Given the description of an element on the screen output the (x, y) to click on. 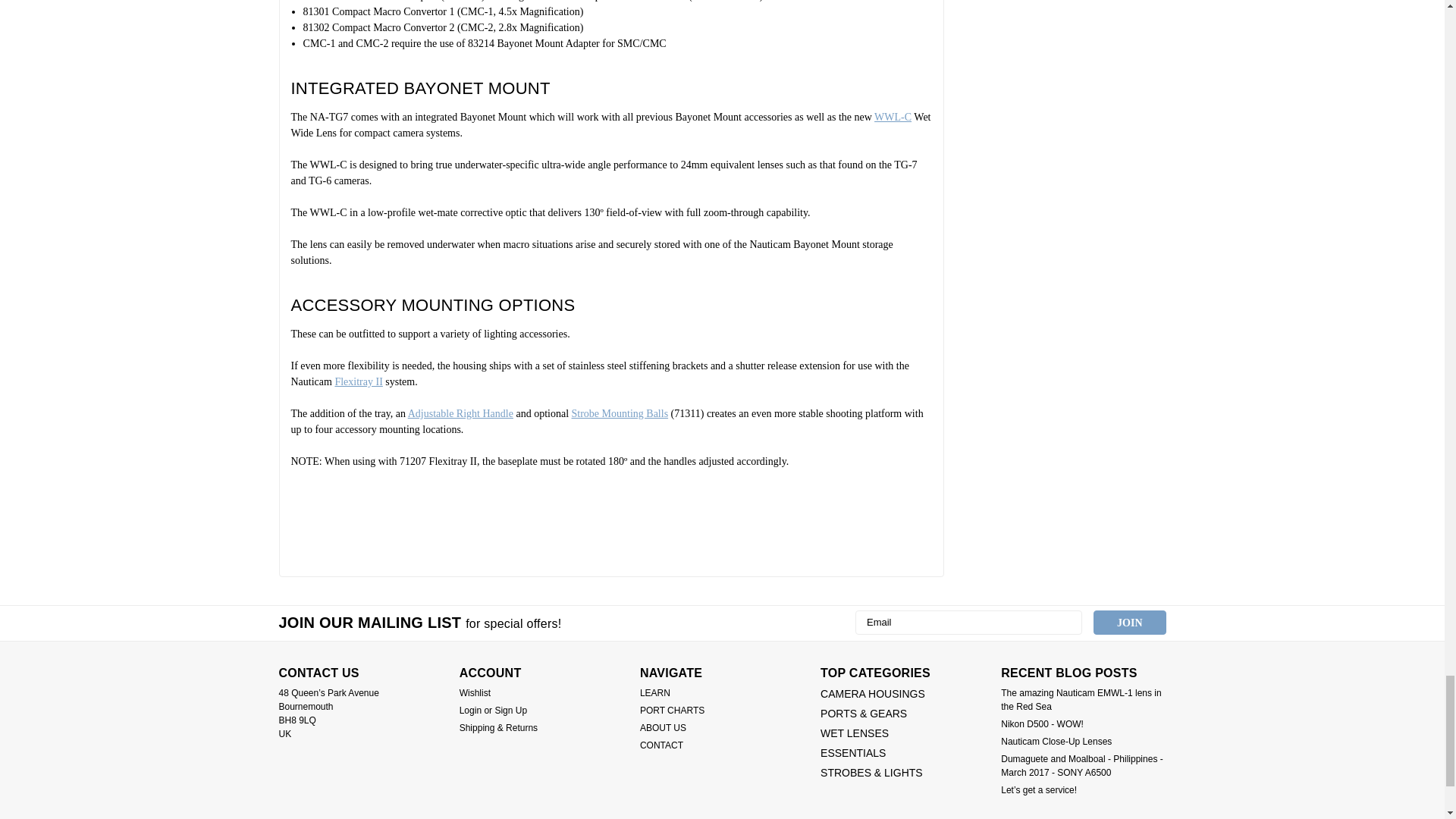
Join (1129, 622)
